Given the description of an element on the screen output the (x, y) to click on. 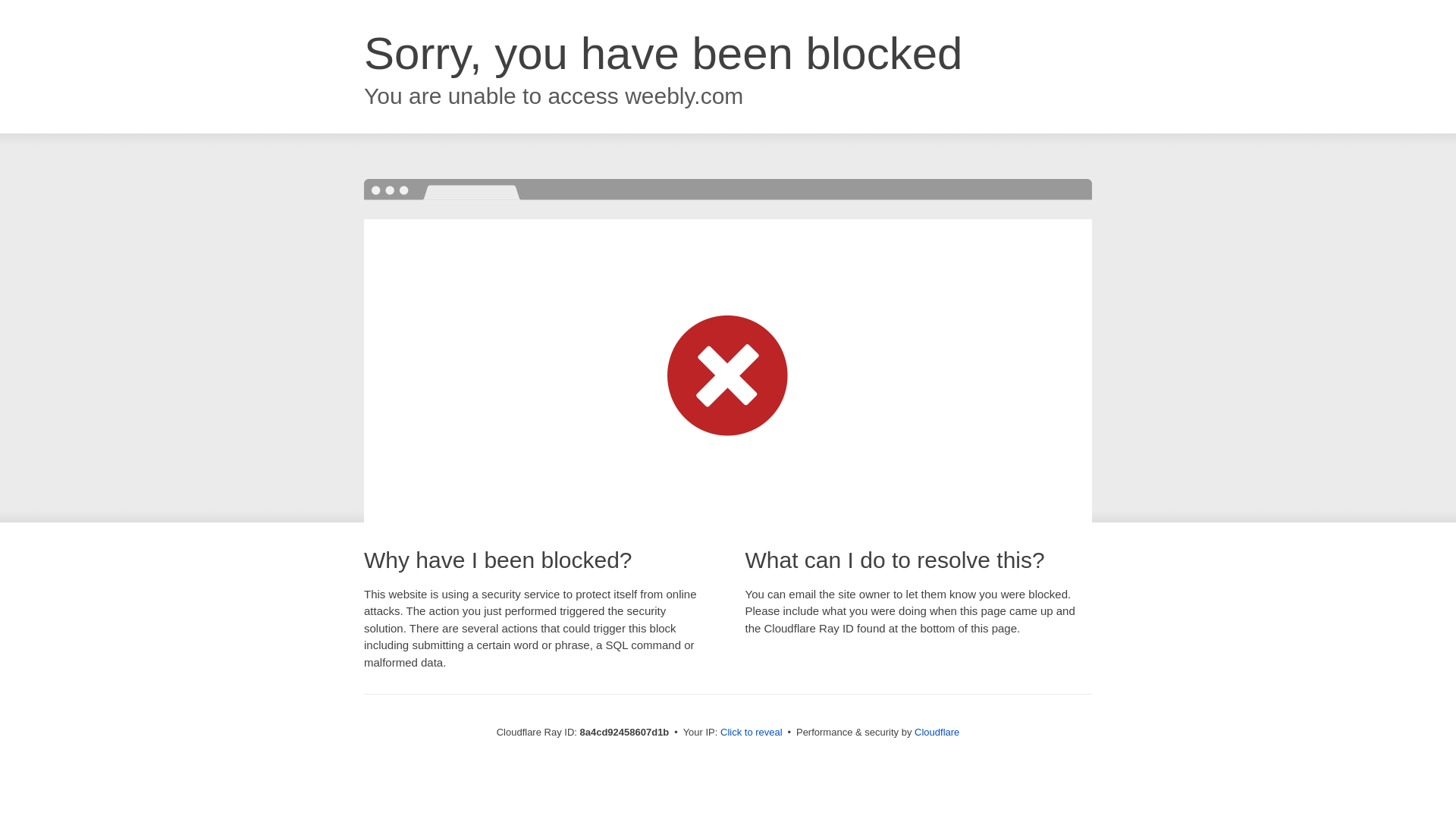
Cloudflare (936, 731)
Click to reveal (751, 732)
